Given the description of an element on the screen output the (x, y) to click on. 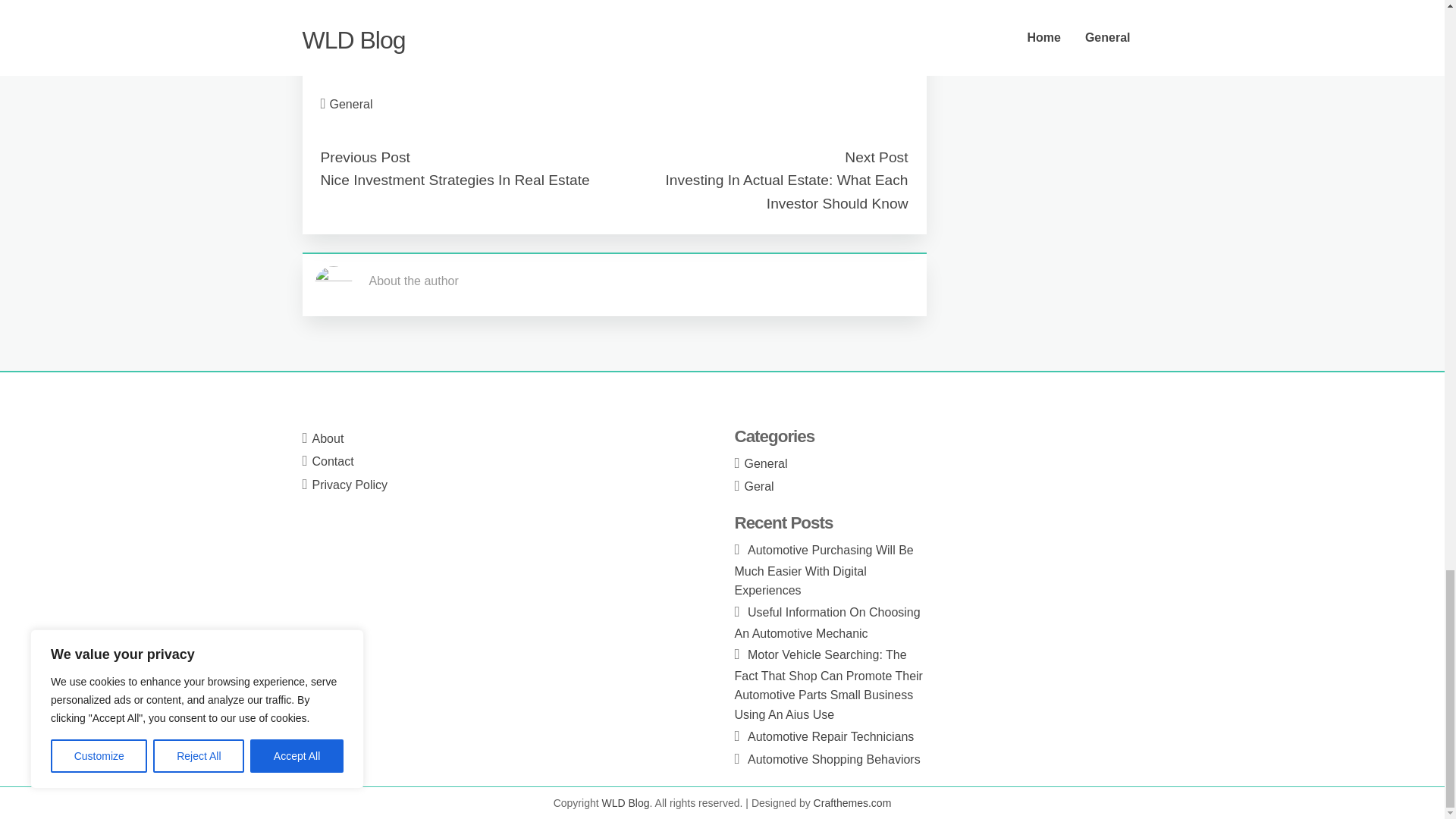
General (765, 463)
Previous Post (364, 157)
Privacy Policy (350, 484)
Geral (759, 486)
About (328, 438)
Useful Information On Choosing An Automotive Mechanic (826, 622)
Contact (333, 461)
General (351, 103)
